Given the description of an element on the screen output the (x, y) to click on. 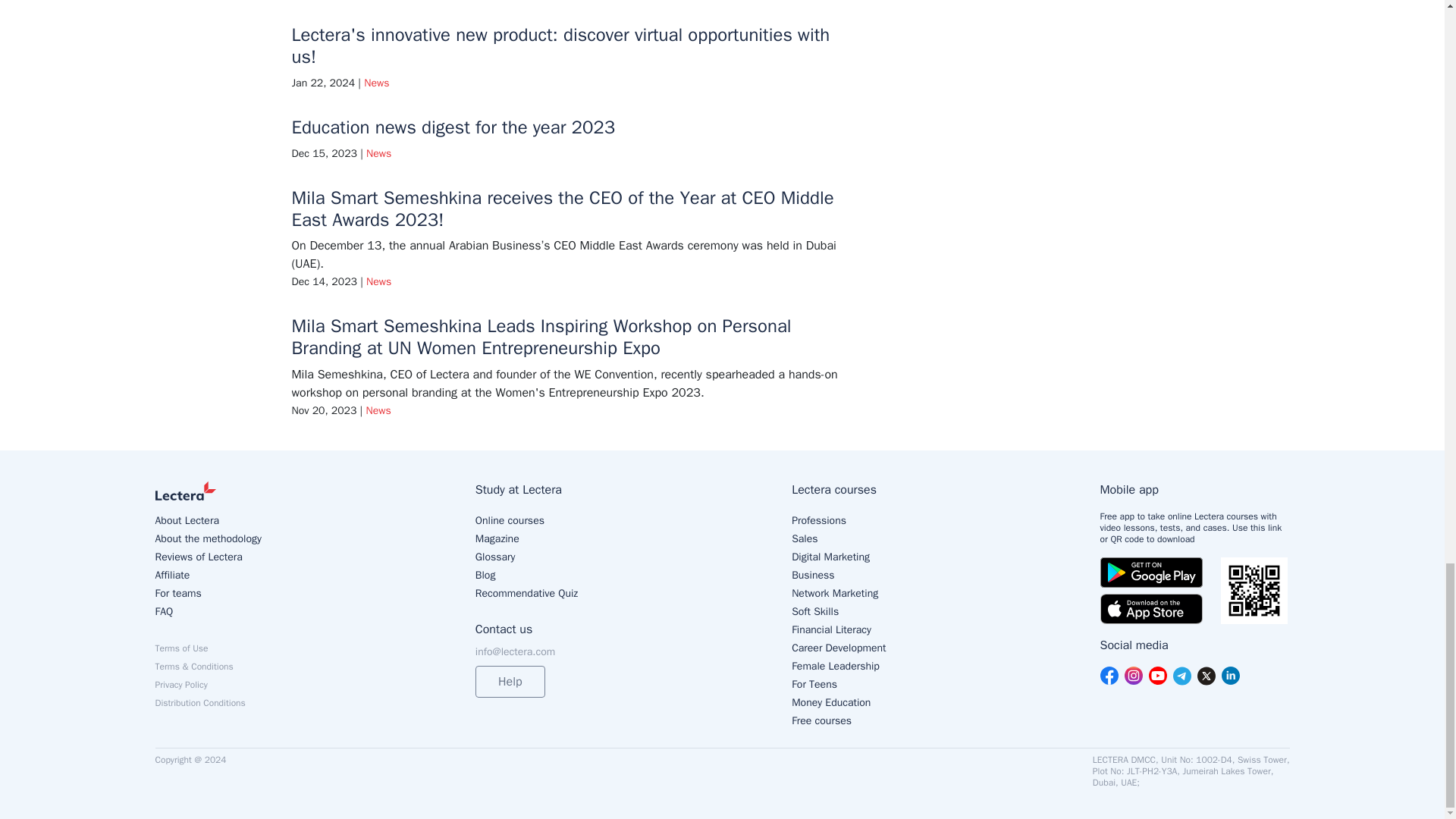
Jul 23, 2024 (919, 72)
Dec 14, 2023 (323, 281)
Jan 22, 2024 (323, 82)
Dec 15, 2023 (323, 153)
Nov 20, 2023 (323, 410)
Jul 29, 2024 (919, 390)
